Given the description of an element on the screen output the (x, y) to click on. 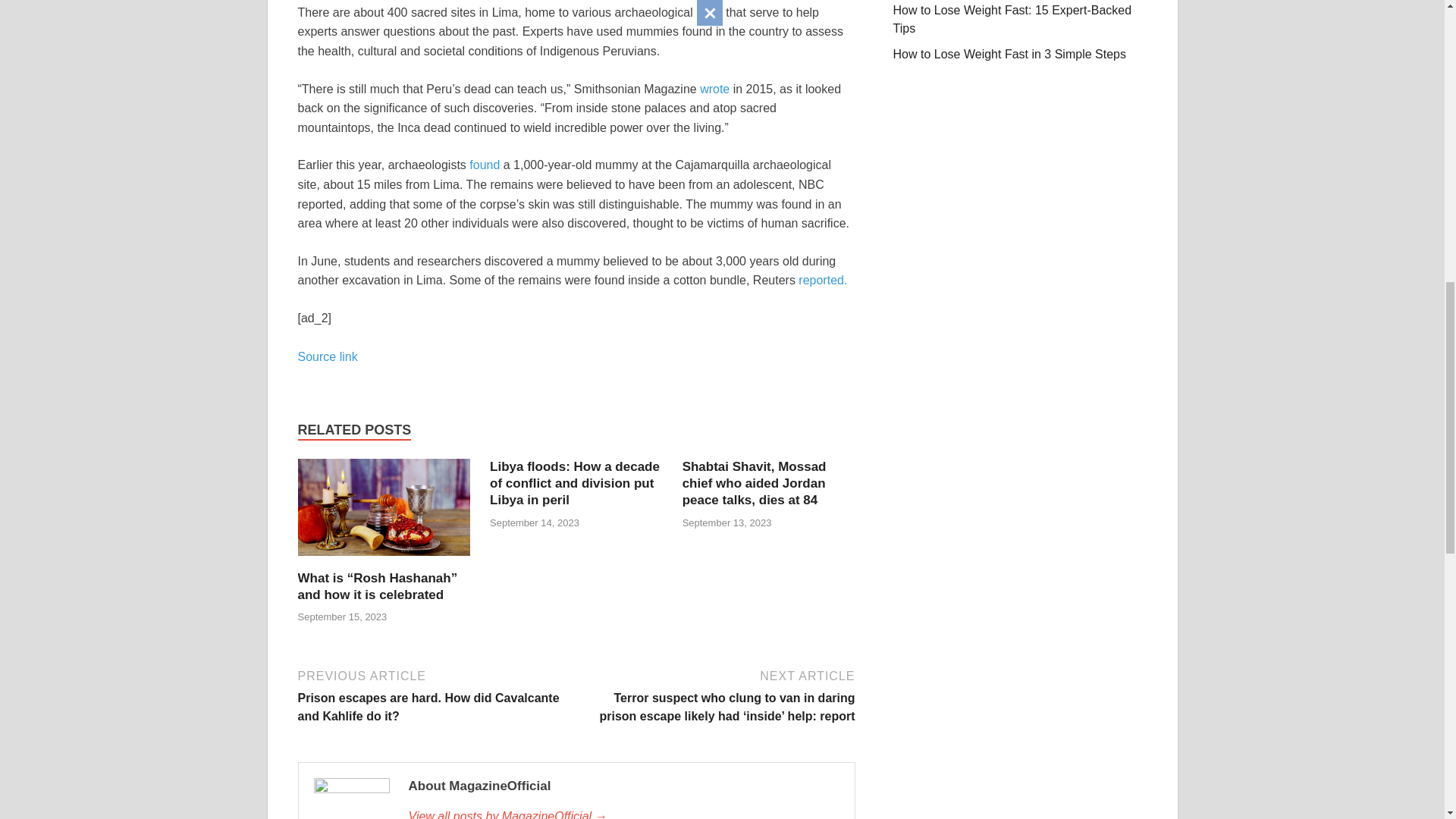
found (483, 164)
reported. (822, 279)
wrote (714, 88)
MagazineOfficial (622, 813)
Source link (326, 356)
